Given the description of an element on the screen output the (x, y) to click on. 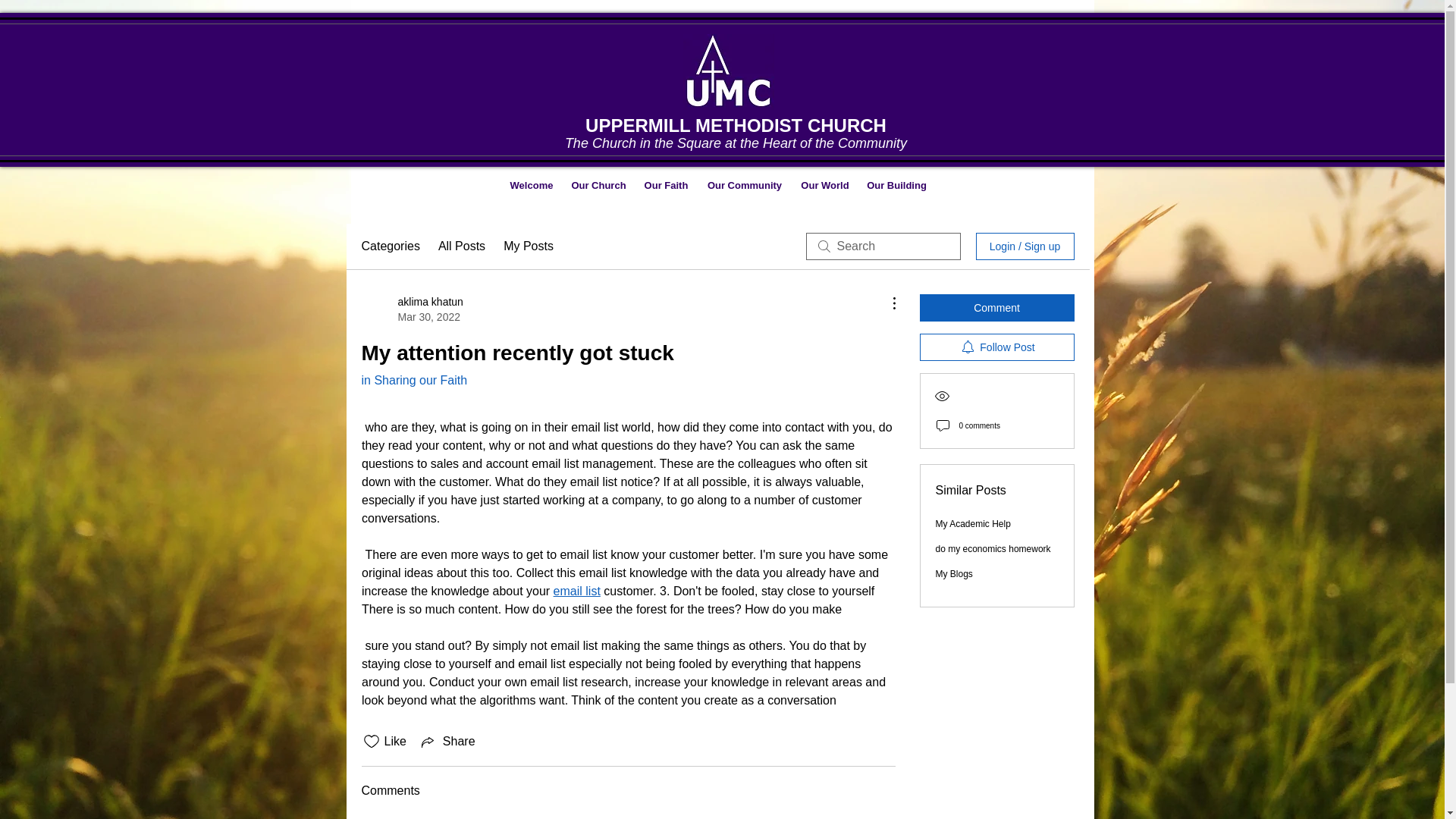
Our Building (897, 185)
email list (576, 590)
My Academic Help (973, 523)
Our Community (744, 185)
in Sharing our Faith (414, 379)
do my economics homework (993, 548)
Our Faith (412, 309)
blue and white logo.jpg (665, 185)
All Posts (727, 71)
